Given the description of an element on the screen output the (x, y) to click on. 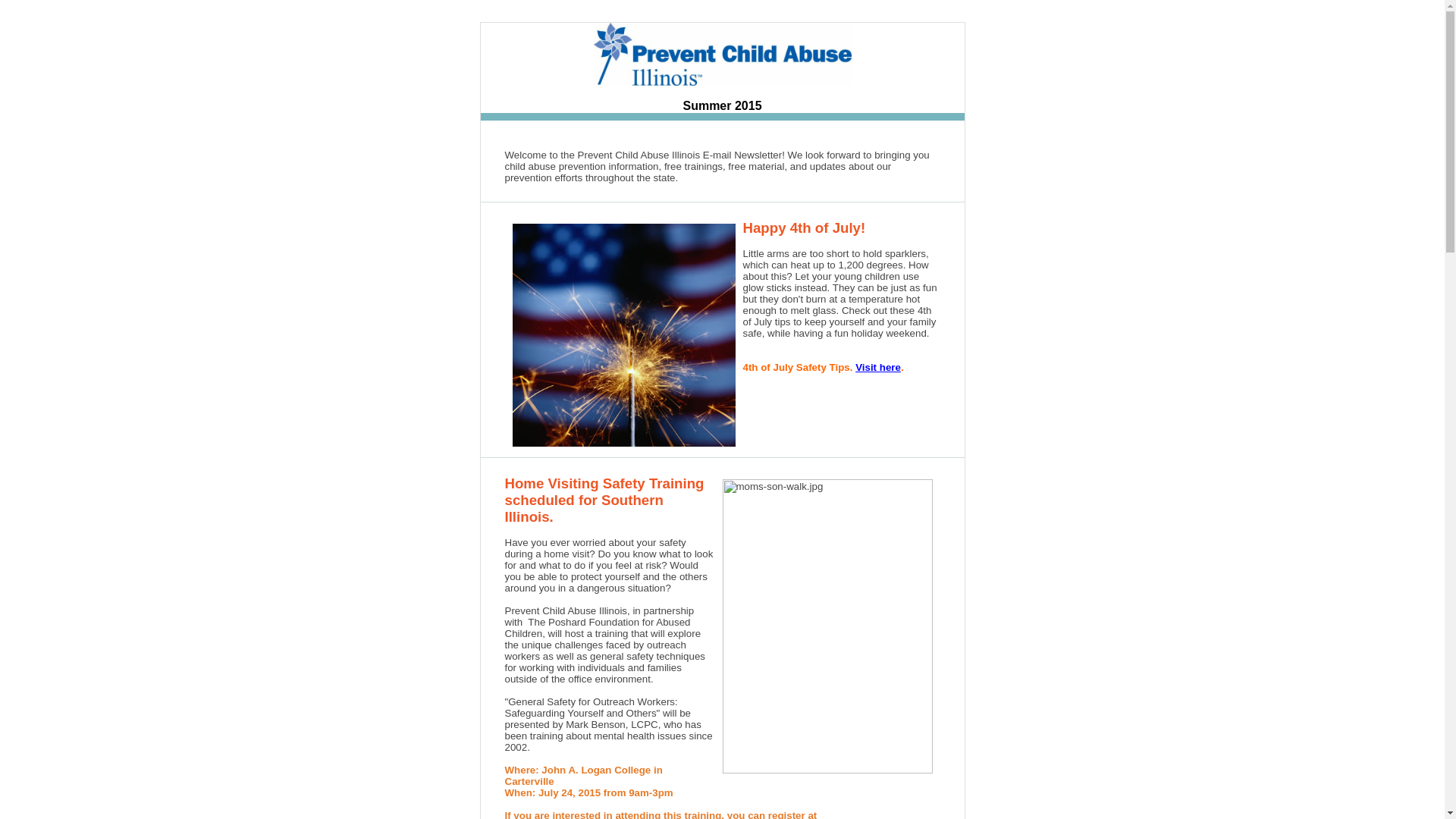
Visit here (878, 367)
